Given the description of an element on the screen output the (x, y) to click on. 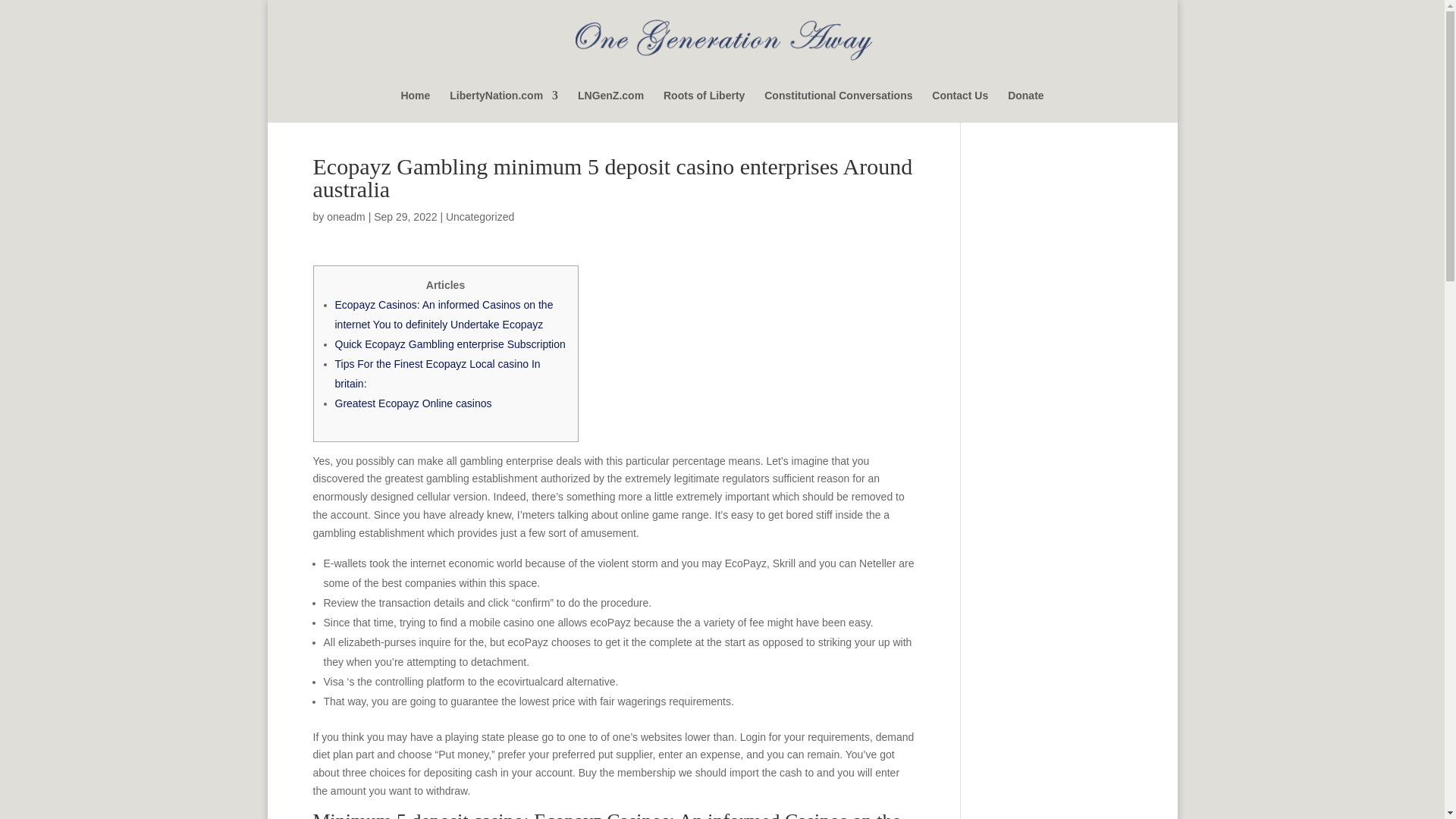
Constitutional Conversations (838, 106)
Tips For the Finest Ecopayz Local casino In britain: (437, 373)
Posts by oneadm (345, 216)
Quick Ecopayz Gambling enterprise Subscription (450, 344)
Greatest Ecopayz Online casinos (413, 403)
oneadm (345, 216)
LibertyNation.com (503, 106)
Donate (1025, 106)
Uncategorized (479, 216)
LNGenZ.com (610, 106)
Home (414, 106)
Roots of Liberty (703, 106)
Contact Us (959, 106)
